Given the description of an element on the screen output the (x, y) to click on. 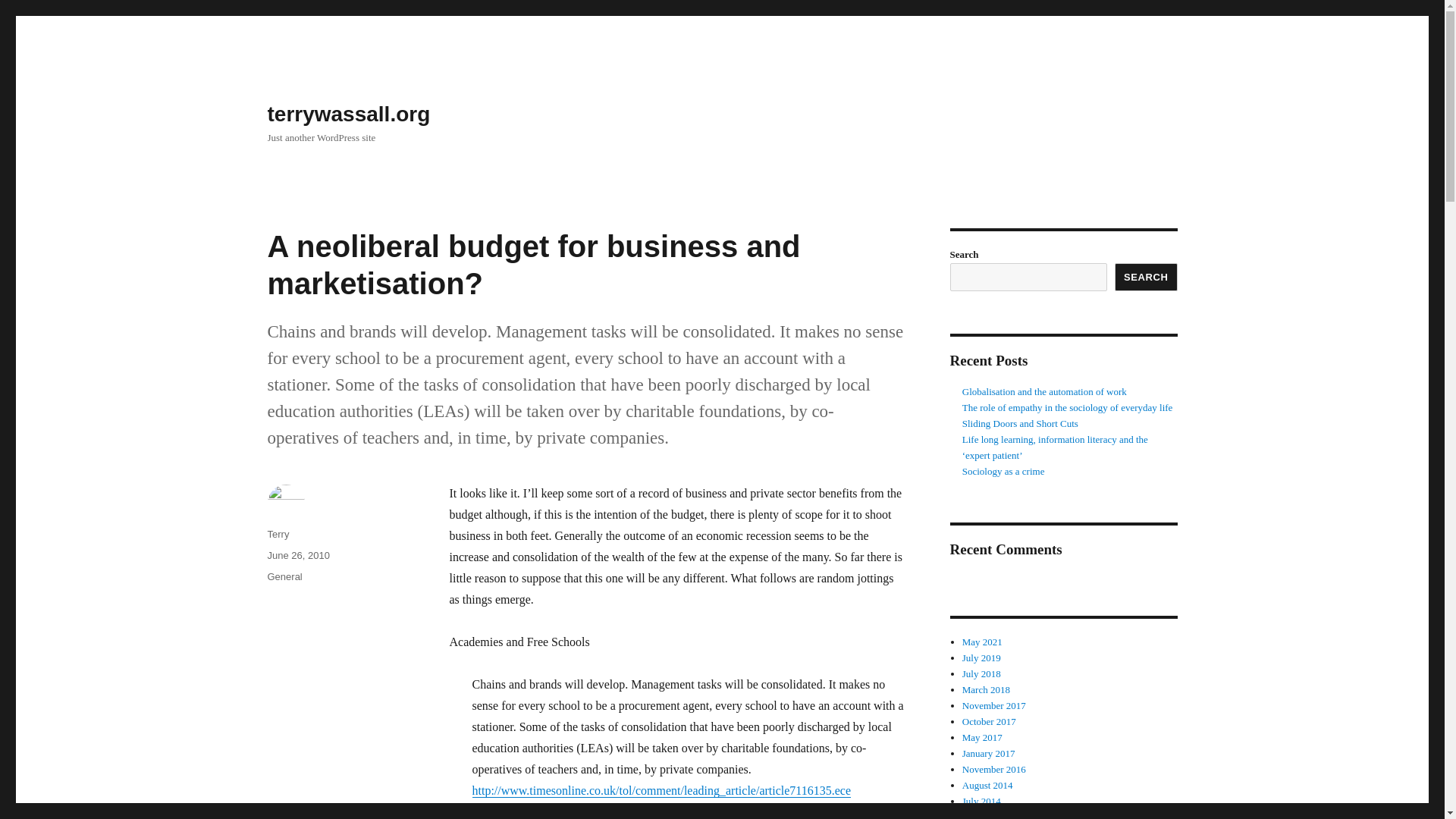
terrywassall.org (347, 114)
Terry (277, 533)
June 26, 2010 (297, 555)
General (283, 576)
